Given the description of an element on the screen output the (x, y) to click on. 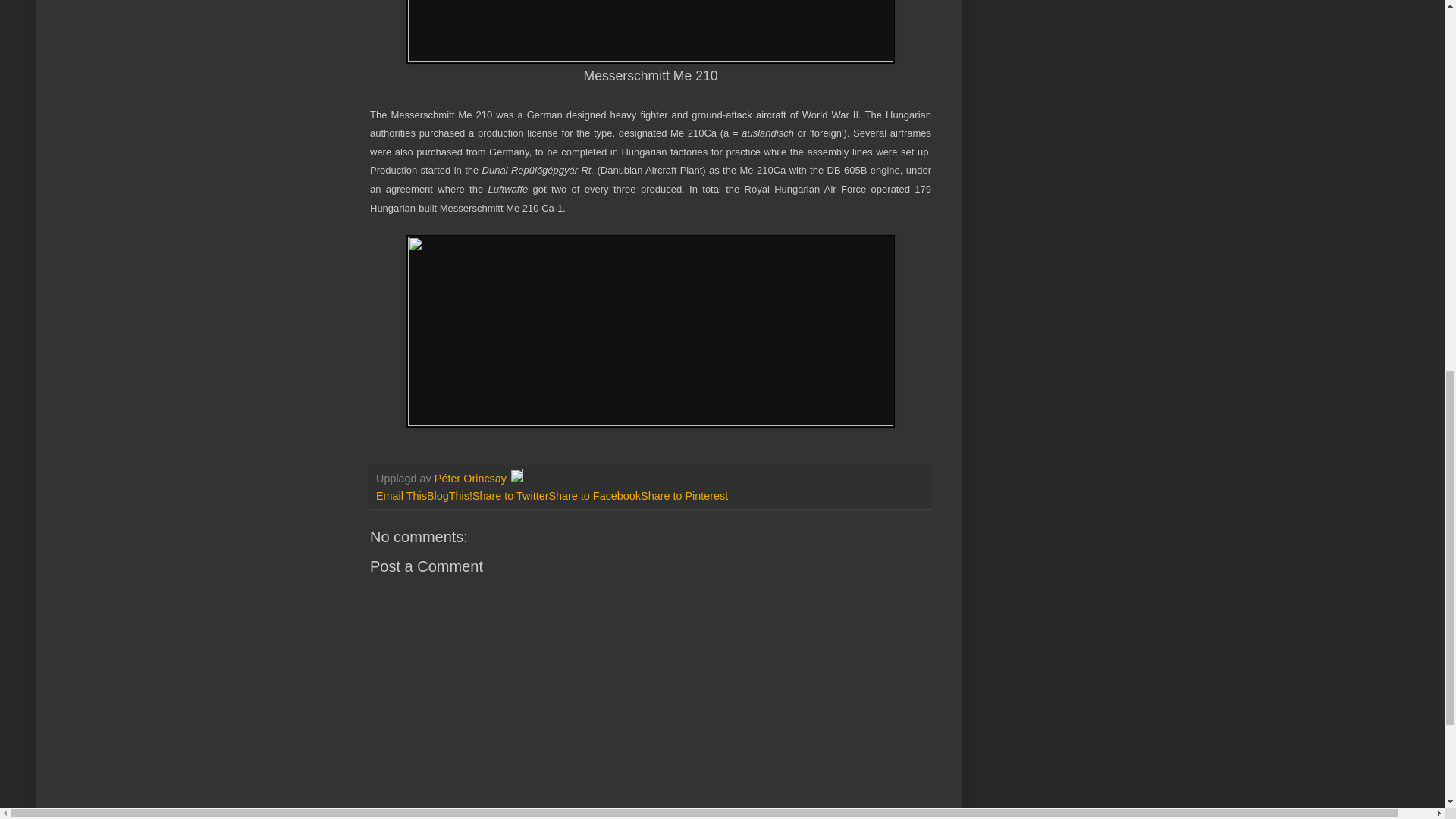
Edit Post (515, 478)
Email This (400, 495)
author profile (471, 478)
BlogThis! (448, 495)
Share to Twitter (509, 495)
Email This (400, 495)
Share to Pinterest (684, 495)
Share to Facebook (594, 495)
Share to Pinterest (684, 495)
BlogThis! (448, 495)
Share to Facebook (594, 495)
Share to Twitter (509, 495)
